Given the description of an element on the screen output the (x, y) to click on. 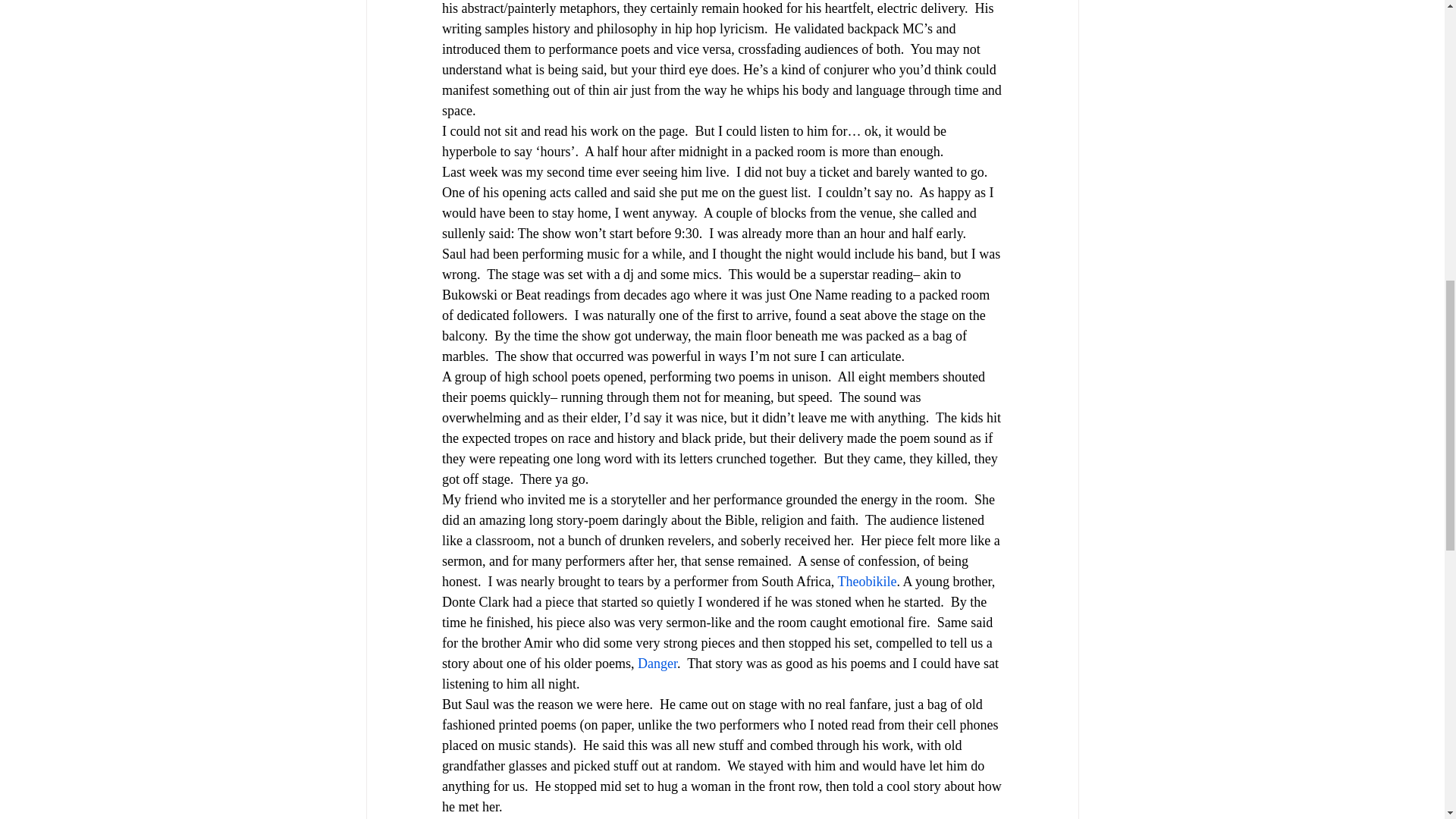
Danger (657, 662)
Theobikile (866, 580)
